Given the description of an element on the screen output the (x, y) to click on. 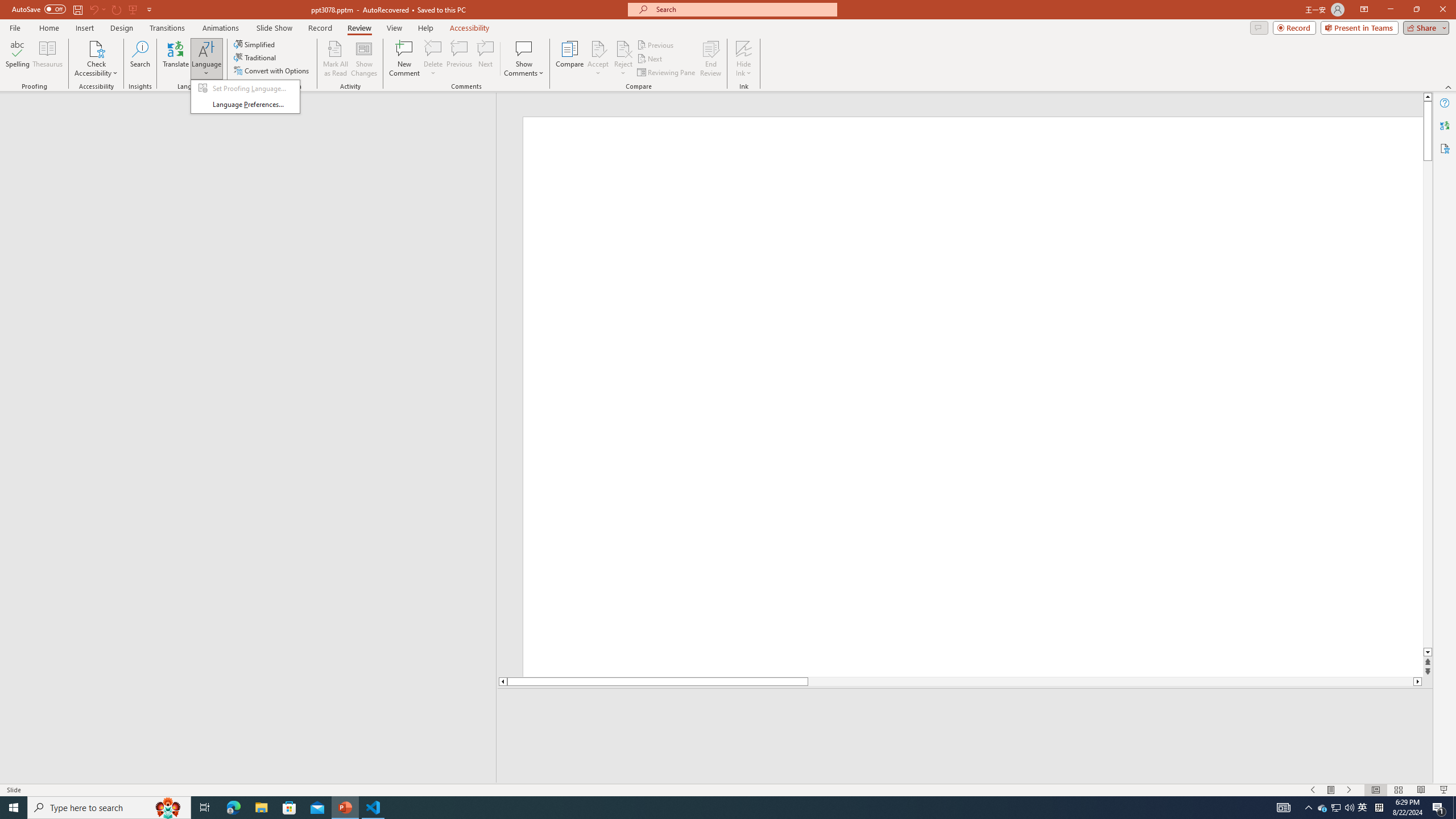
New Comment (403, 58)
Previous (655, 44)
Language (206, 58)
Start (13, 807)
Simplified (254, 44)
Convert with Options... (272, 69)
Hide Ink (743, 58)
Class: MsoCommandBar (728, 789)
Reject Change (622, 48)
